Given the description of an element on the screen output the (x, y) to click on. 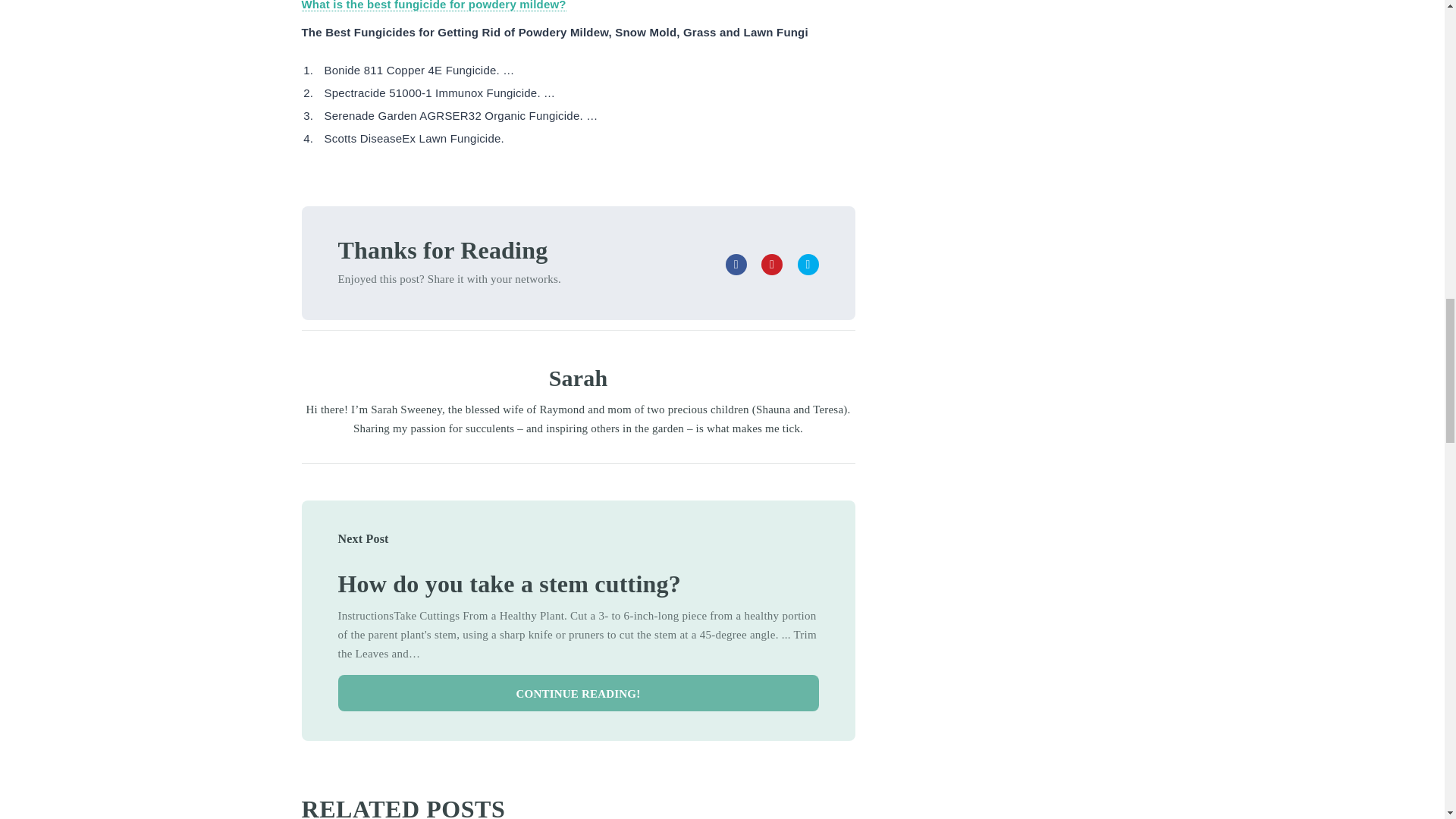
What is the best fungicide for powdery mildew? (433, 5)
CONTINUE READING! (577, 692)
How do you treat powdery mildew on succulents? (509, 583)
Sarah (578, 377)
How do you take a stem cutting? (509, 583)
What is the best fungicide for powdery mildew? (433, 5)
